Given the description of an element on the screen output the (x, y) to click on. 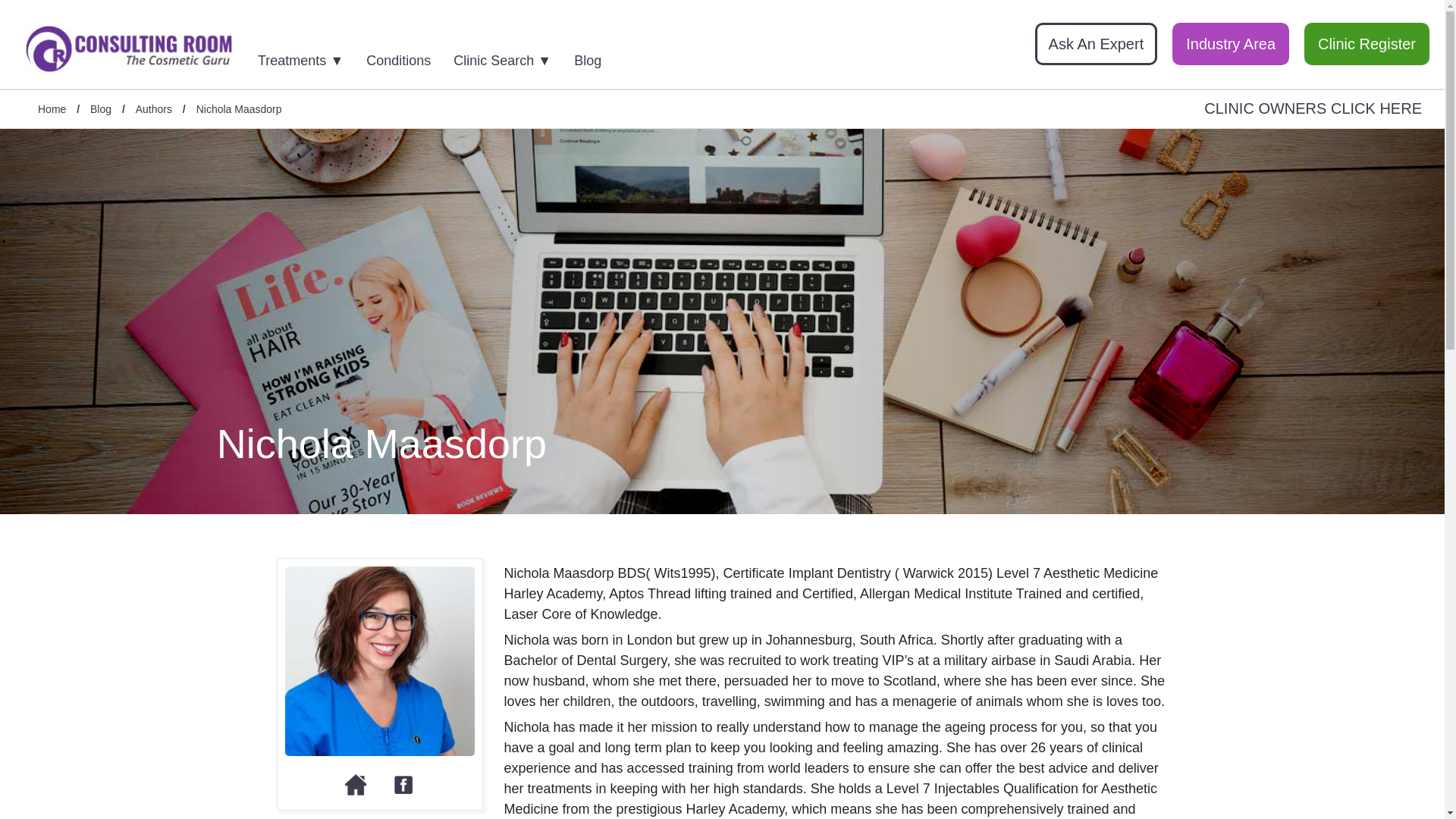
Conditions (407, 56)
Blog (101, 110)
CLINIC OWNERS CLICK HERE (1313, 108)
Industry Area (1230, 43)
Home (51, 110)
Consulting Room Home (128, 50)
Ask An Expert (1096, 43)
Consulting Room Logo (128, 48)
Clinic Register (1366, 43)
Nichola Maasdorp (239, 110)
Conditions (407, 56)
Authors (153, 110)
